Given the description of an element on the screen output the (x, y) to click on. 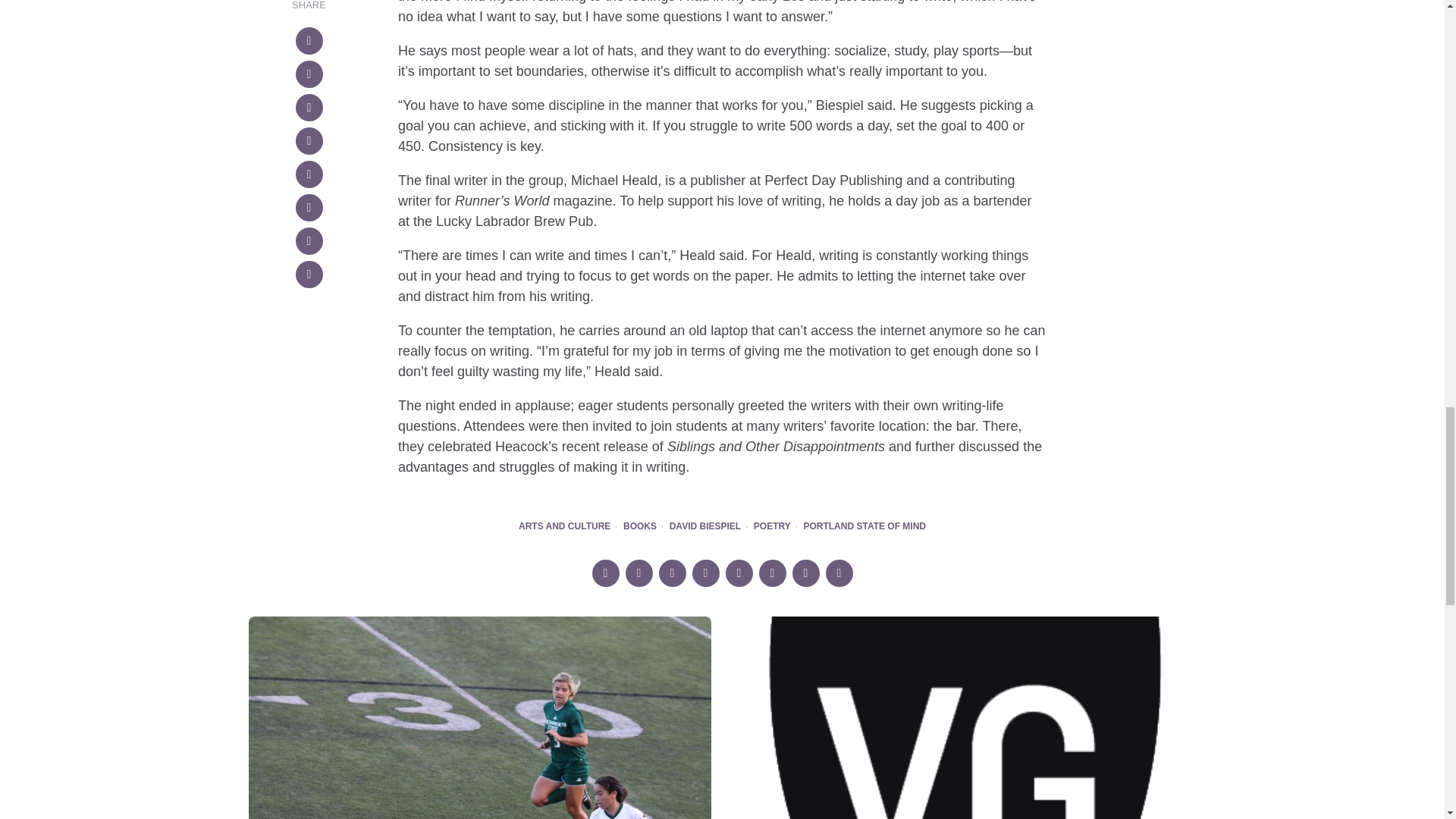
DAVID BIESPIEL (705, 526)
ARTS AND CULTURE (564, 526)
BOOKS (639, 526)
